Given the description of an element on the screen output the (x, y) to click on. 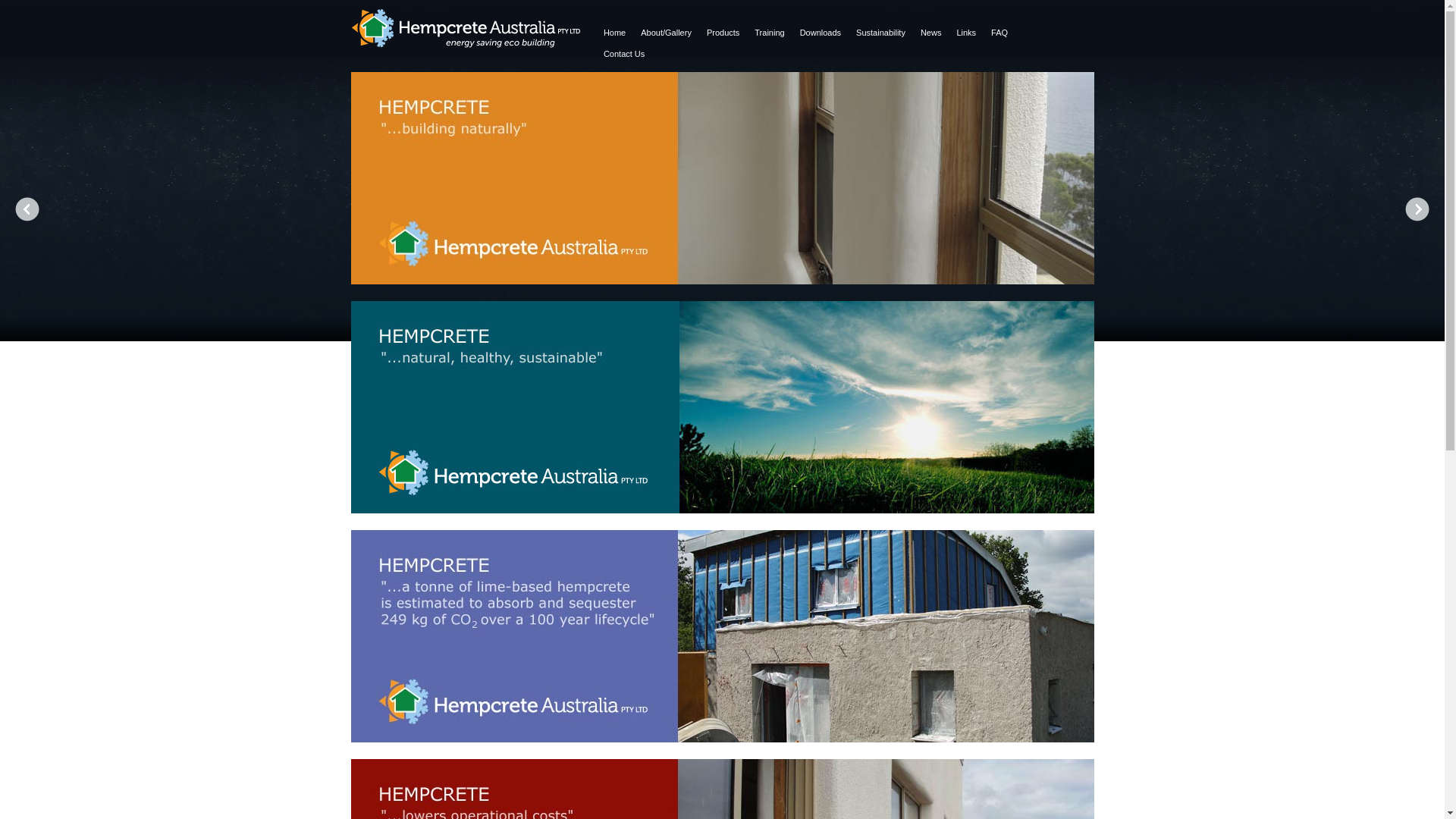
Training Element type: text (768, 32)
Products Element type: text (722, 32)
About/Gallery Element type: text (666, 32)
Links Element type: text (965, 32)
News Element type: text (931, 32)
Contact Us Element type: text (624, 54)
Downloads Element type: text (820, 32)
Sustainability Element type: text (880, 32)
Home Element type: text (614, 32)
FAQ Element type: text (999, 32)
